Given the description of an element on the screen output the (x, y) to click on. 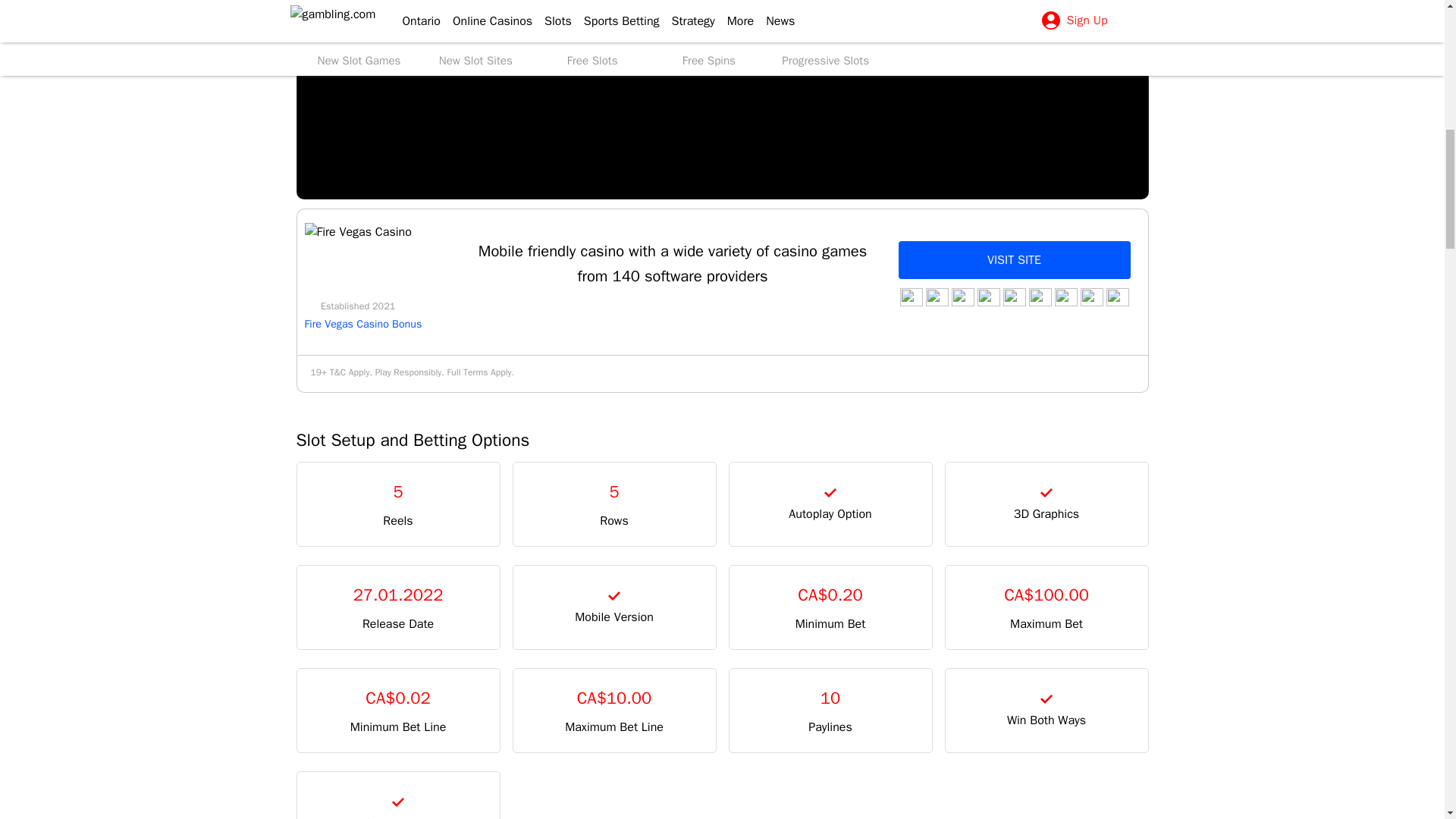
Apple Pay (962, 297)
MasterCard (935, 297)
Maestro (1065, 297)
NETELLER (1039, 297)
VISA (910, 297)
Paysafecard (987, 297)
Fire Vegas Casino (358, 232)
Interac (1116, 297)
Skrill (1014, 297)
Bank Transfer (1091, 297)
